Given the description of an element on the screen output the (x, y) to click on. 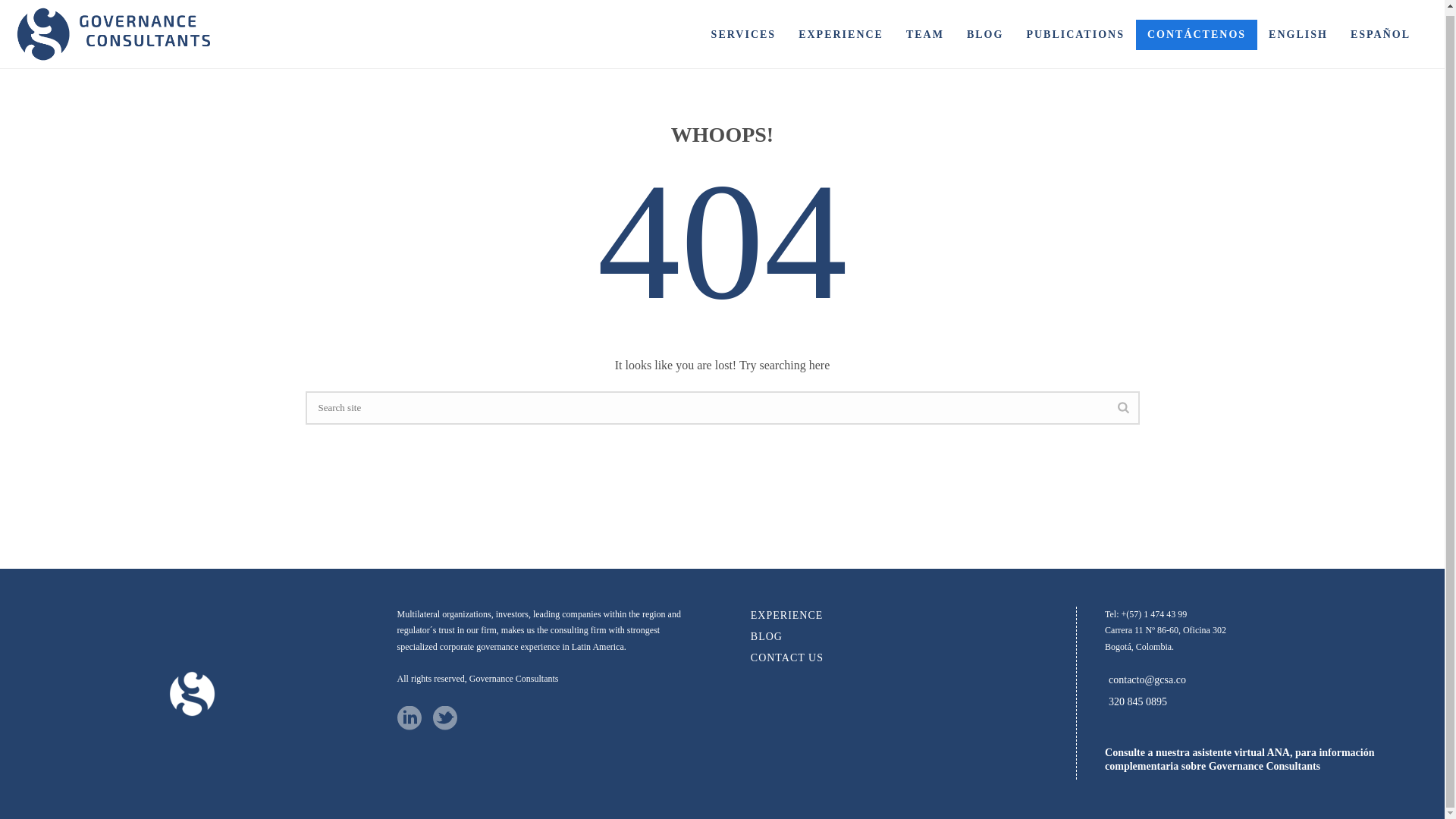
320 845 0895 (1137, 702)
PUBLICATIONS (1074, 30)
ENGLISH (1298, 30)
ENGLISH (1298, 30)
 twitter (444, 718)
CONTACT US (787, 657)
SERVICES (743, 30)
English (1298, 30)
BLOG (767, 636)
EXPERIENCE (841, 30)
PUBLICATIONS (1074, 30)
BLOG (984, 30)
TEAM (925, 30)
EXPERIENCE (841, 30)
BLOG (984, 30)
